Given the description of an element on the screen output the (x, y) to click on. 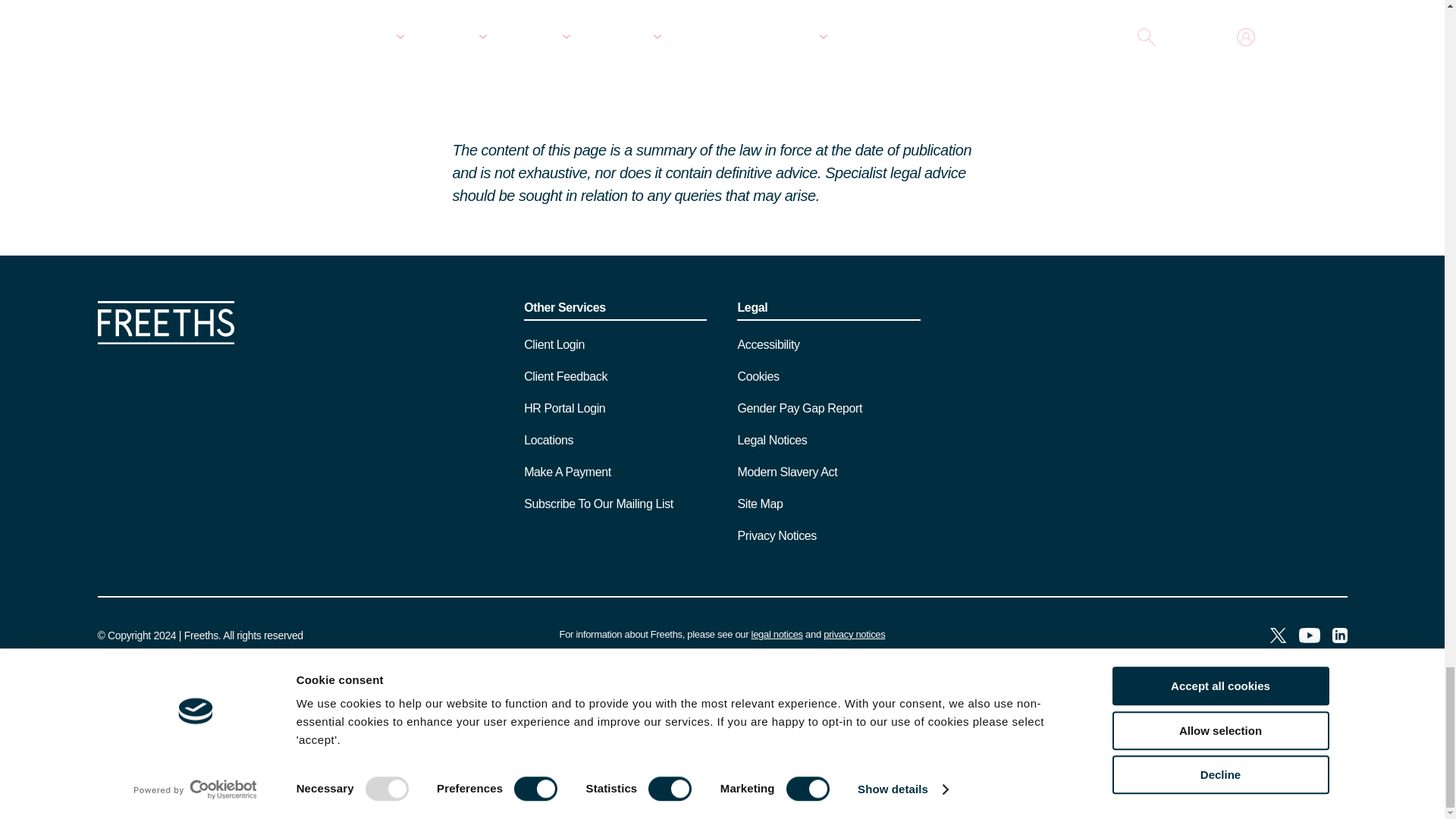
Twitter (1277, 636)
Legal Notices (777, 634)
Home (164, 339)
Privacy Notices (854, 634)
